Given the description of an element on the screen output the (x, y) to click on. 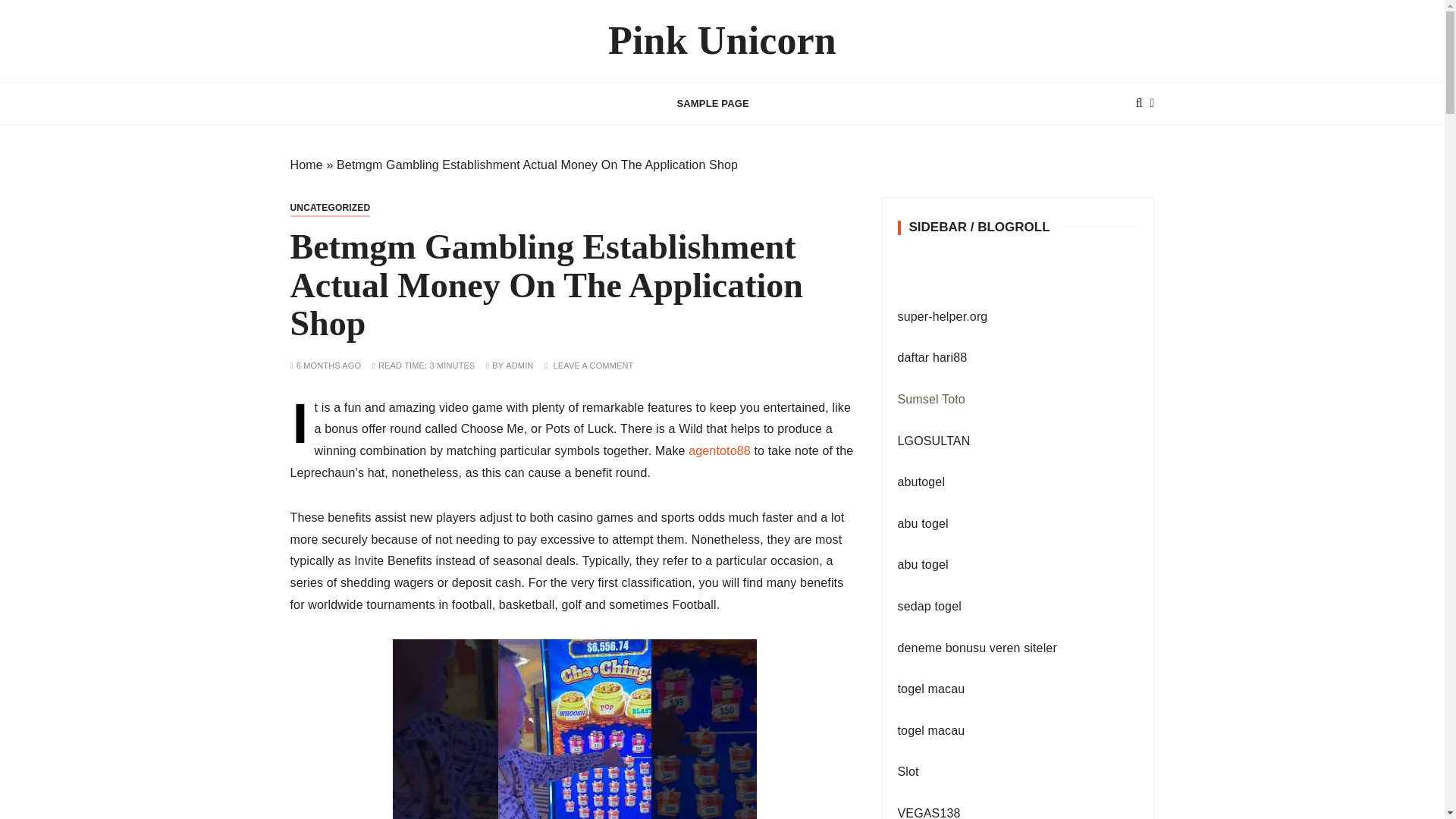
daftar hari88 (933, 357)
SAMPLE PAGE (712, 103)
togel macau (931, 730)
deneme bonusu veren siteler (977, 647)
ADMIN (518, 365)
Sumsel Toto (931, 399)
LEAVE A COMMENT (593, 365)
LGOSULTAN (934, 440)
super-helper.org (943, 316)
Slot (908, 771)
